Given the description of an element on the screen output the (x, y) to click on. 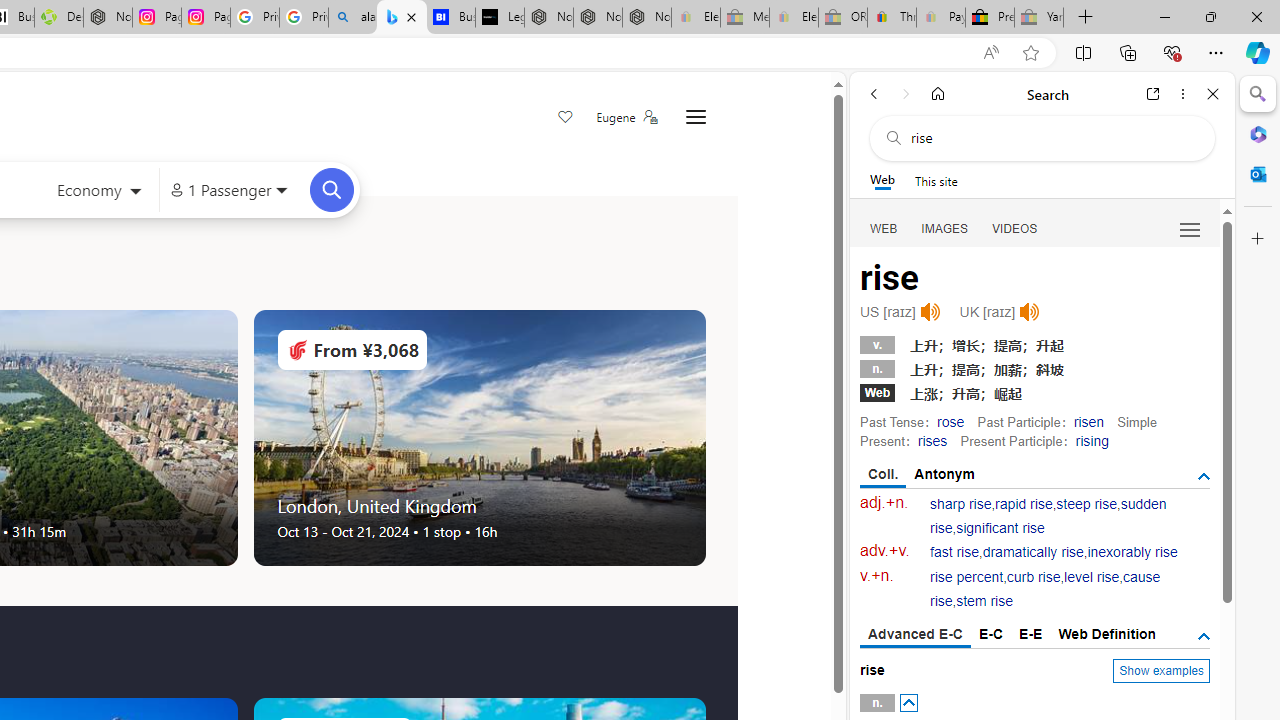
Search Filter, WEB (884, 228)
sharp rise (961, 503)
Coll. (883, 475)
Click to scroll right (704, 437)
curb rise (1033, 577)
Eugene (626, 117)
Payments Terms of Use | eBay.com - Sleeping (940, 17)
rise percent (966, 577)
Press Room - eBay Inc. (989, 17)
VIDEOS (1015, 228)
